Given the description of an element on the screen output the (x, y) to click on. 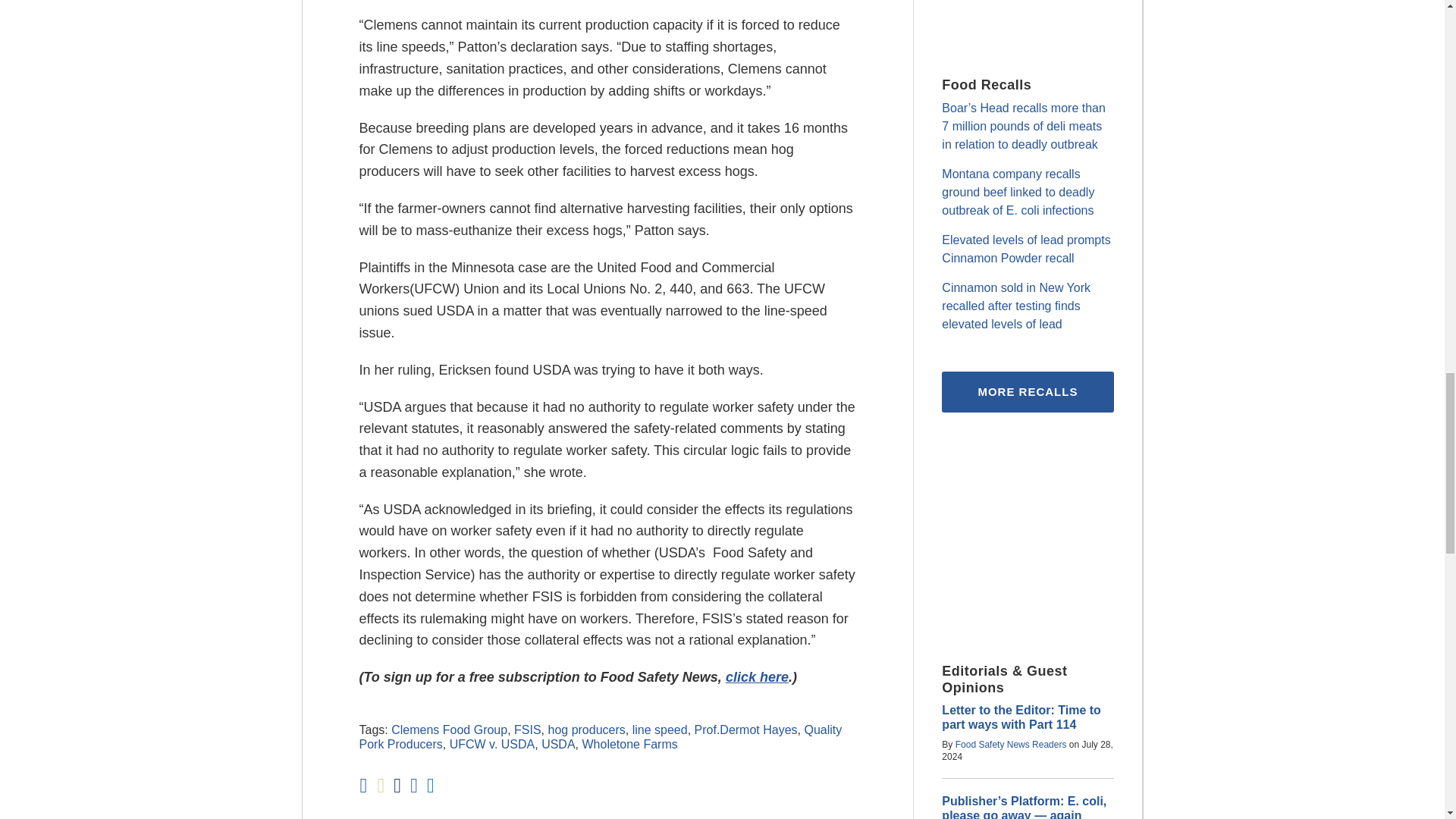
Clemens Food Group (448, 729)
click here (757, 676)
Print: (362, 784)
line speed (659, 729)
Prof.Dermot Hayes (745, 729)
hog producers (585, 729)
Tweet this post (397, 785)
Email this post (380, 785)
UFCW v. USDA (492, 744)
Like this post (413, 785)
USDA (558, 744)
Quality Pork Producers (601, 737)
FSIS (527, 729)
Share this post on LinkedIn (429, 785)
Wholetone Farms (628, 744)
